Given the description of an element on the screen output the (x, y) to click on. 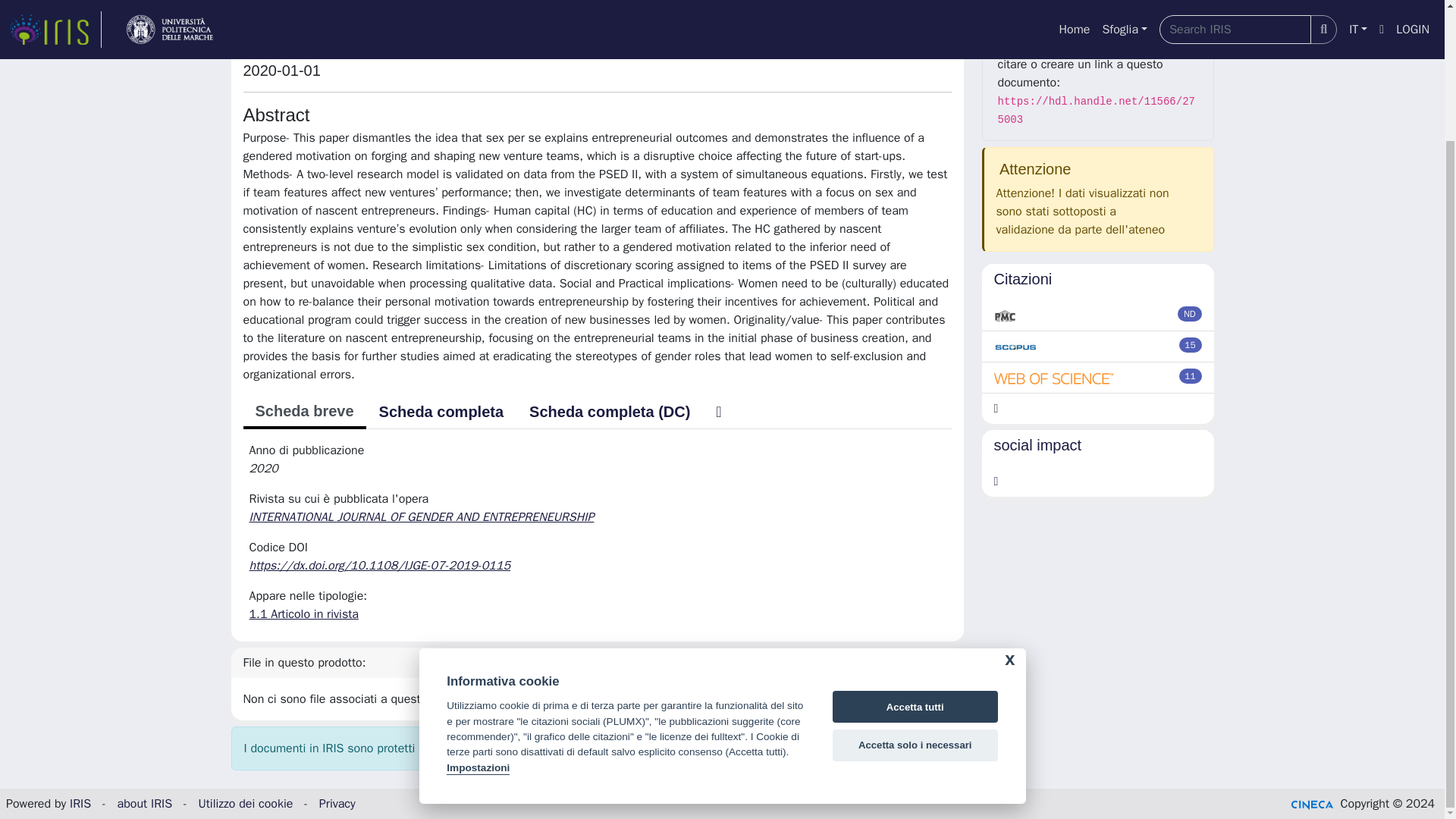
Scheda completa (441, 411)
Scheda breve (304, 412)
aggiornato in data 09-07-2024 21:03 (1190, 344)
INTERNATIONAL JOURNAL OF GENDER AND ENTREPRENEURSHIP (422, 516)
Lucarelli, Caterina (307, 38)
1.1 Articolo in rivista (303, 613)
 Informazioni (1097, 12)
